Given the description of an element on the screen output the (x, y) to click on. 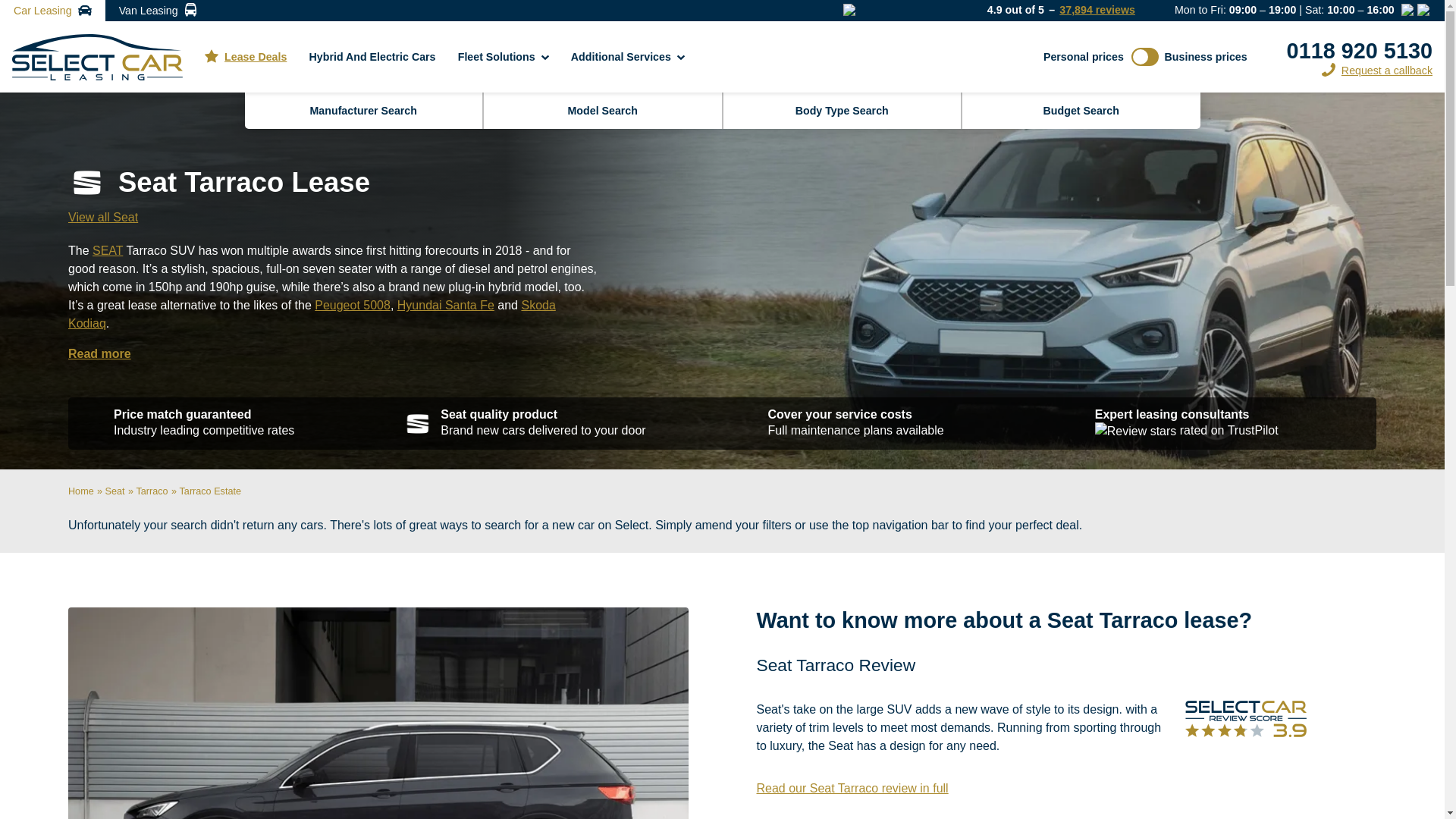
Car Leasing (52, 10)
37,894 reviews (1097, 10)
Fleet Solutions (503, 56)
Van Leasing (158, 10)
Lease Deals (246, 56)
Additional Services (627, 56)
Hybrid And Electric Cars (372, 56)
